Given the description of an element on the screen output the (x, y) to click on. 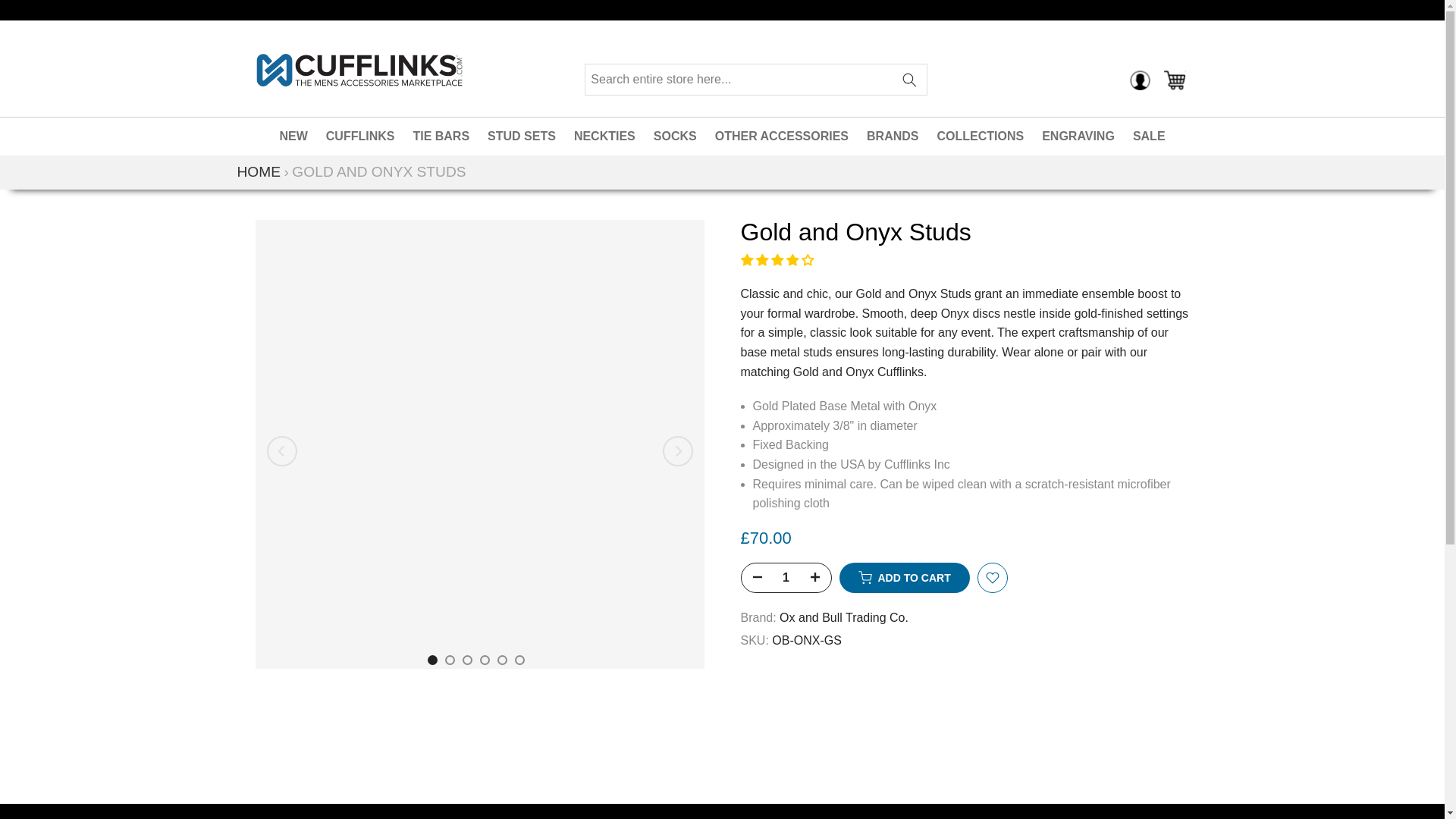
SOCKS (675, 136)
TIE BARS (441, 136)
COLLECTIONS (979, 136)
1 (786, 577)
ENGRAVING (1078, 136)
Home (258, 171)
CUFFLINKS (360, 136)
ADD TO CART (903, 577)
HOME (258, 171)
SALE (1149, 136)
